Given the description of an element on the screen output the (x, y) to click on. 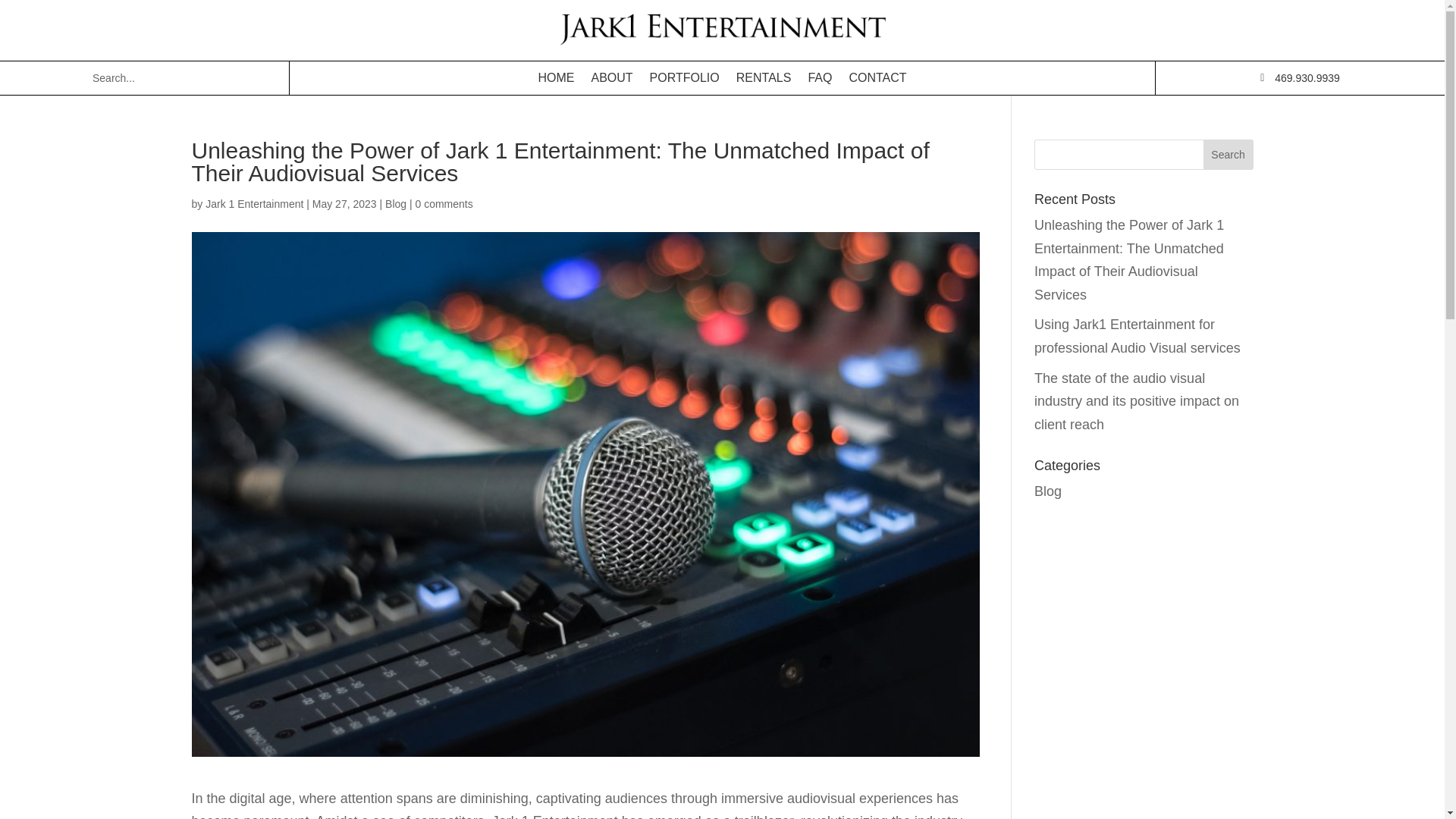
J1 Logo Black (722, 29)
ABOUT (611, 78)
Posts by Jark 1 Entertainment (253, 203)
RENTALS (764, 78)
Search (1228, 154)
0 comments (443, 203)
469.930.9939 (1307, 78)
Jark 1 Entertainment (253, 203)
